Given the description of an element on the screen output the (x, y) to click on. 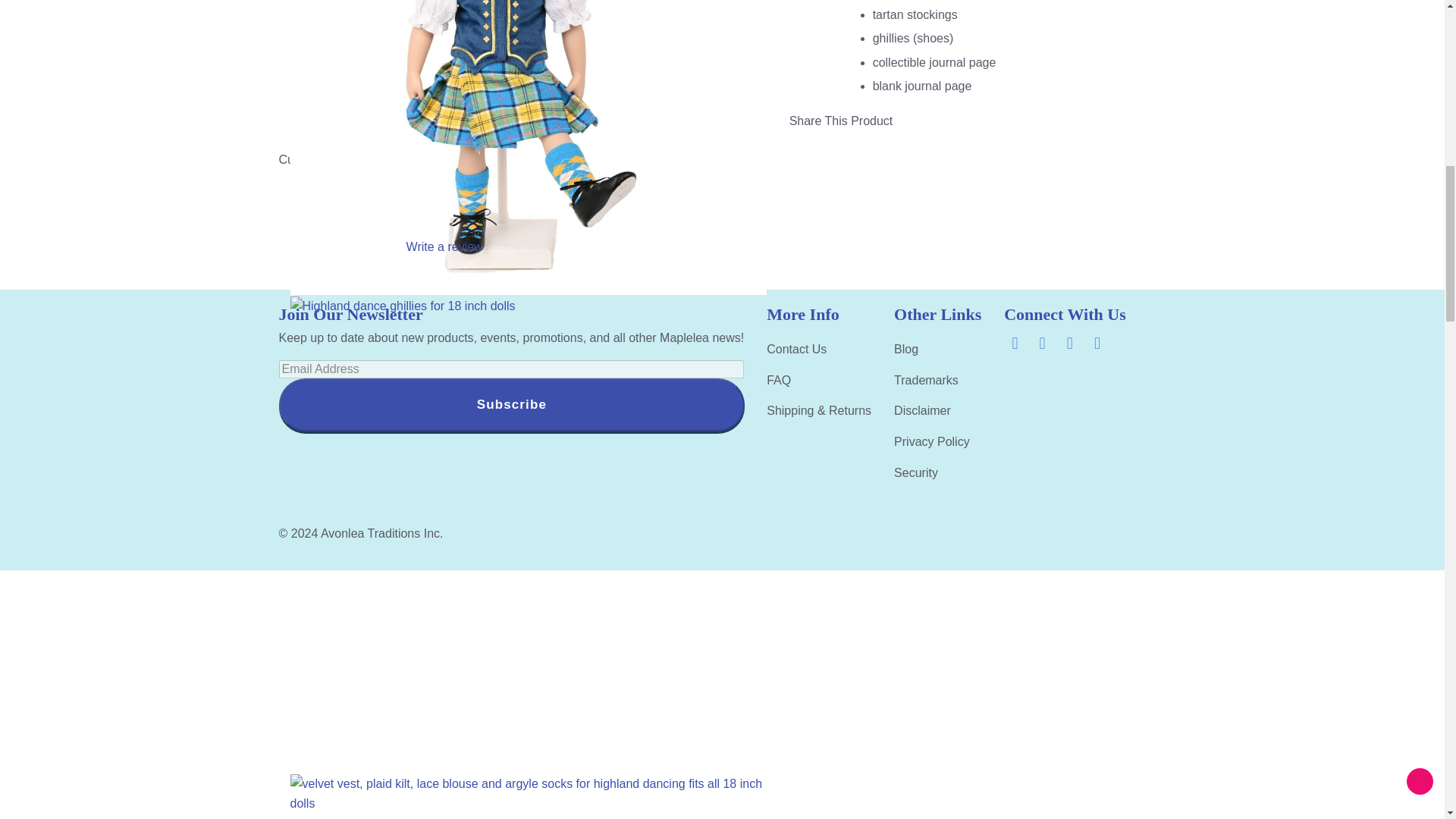
Subscribe (511, 404)
